Given the description of an element on the screen output the (x, y) to click on. 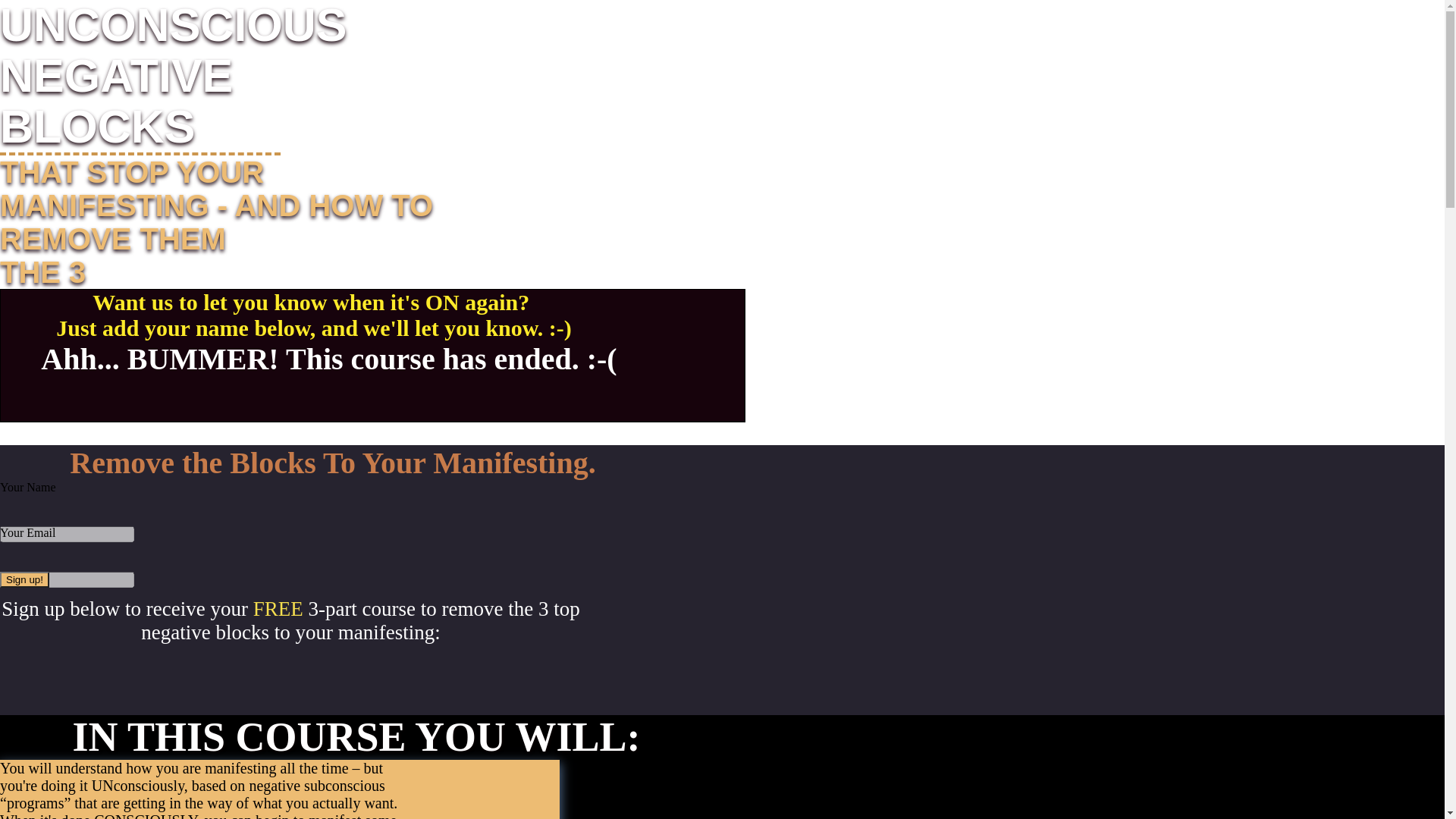
Sign up! Element type: text (24, 579)
